Given the description of an element on the screen output the (x, y) to click on. 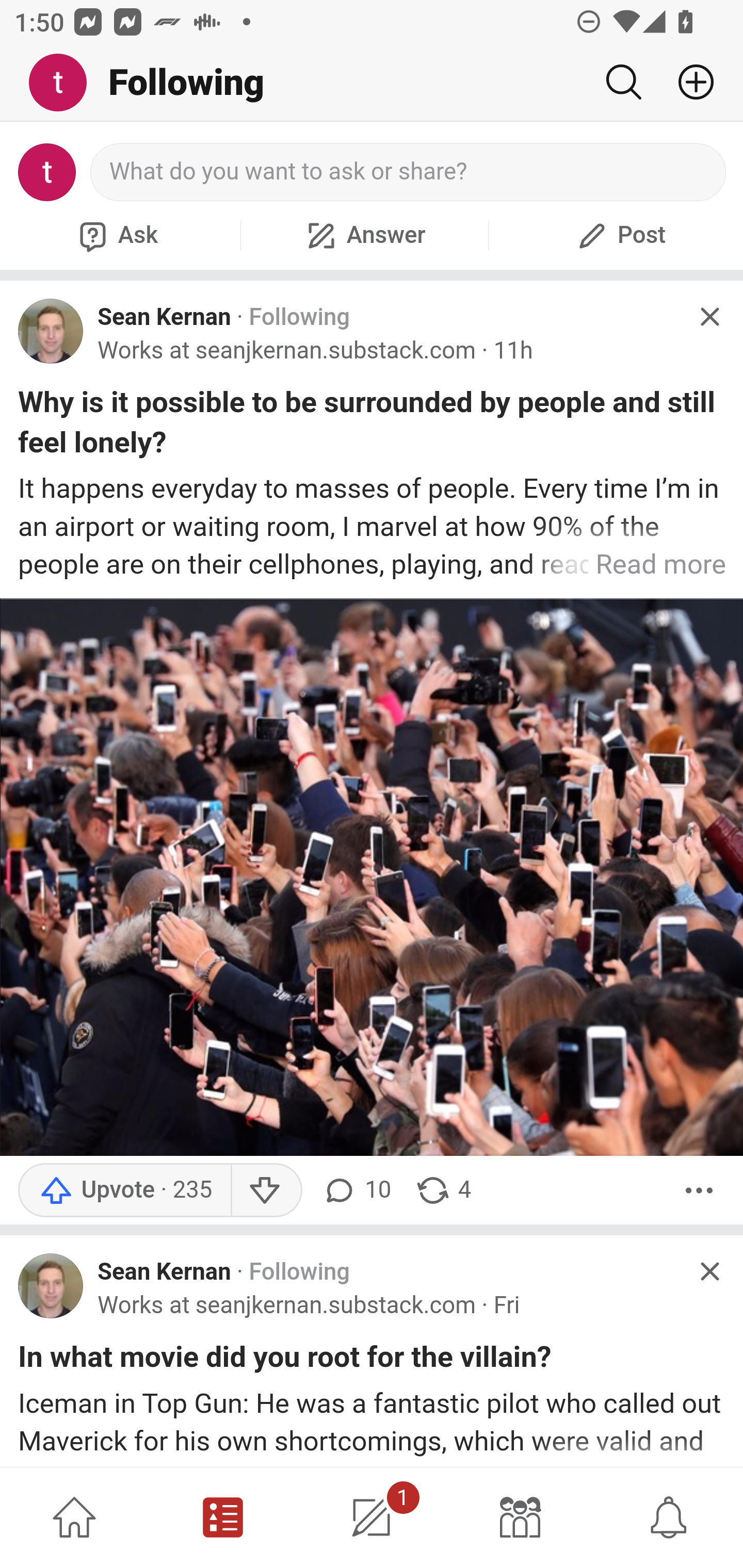
Me (64, 83)
Search (623, 82)
Add (688, 82)
What do you want to ask or share? (408, 172)
Ask (116, 234)
Answer (364, 234)
Post (618, 234)
Hide (709, 316)
Profile photo for Sean Kernan (50, 330)
Sean Kernan (164, 316)
Following (299, 316)
Upvote (124, 1190)
Downvote (266, 1190)
10 comments (356, 1190)
4 shares (443, 1190)
More (699, 1190)
Hide (709, 1270)
Profile photo for Sean Kernan (50, 1285)
Sean Kernan (164, 1271)
Following (299, 1271)
1 (371, 1517)
